Given the description of an element on the screen output the (x, y) to click on. 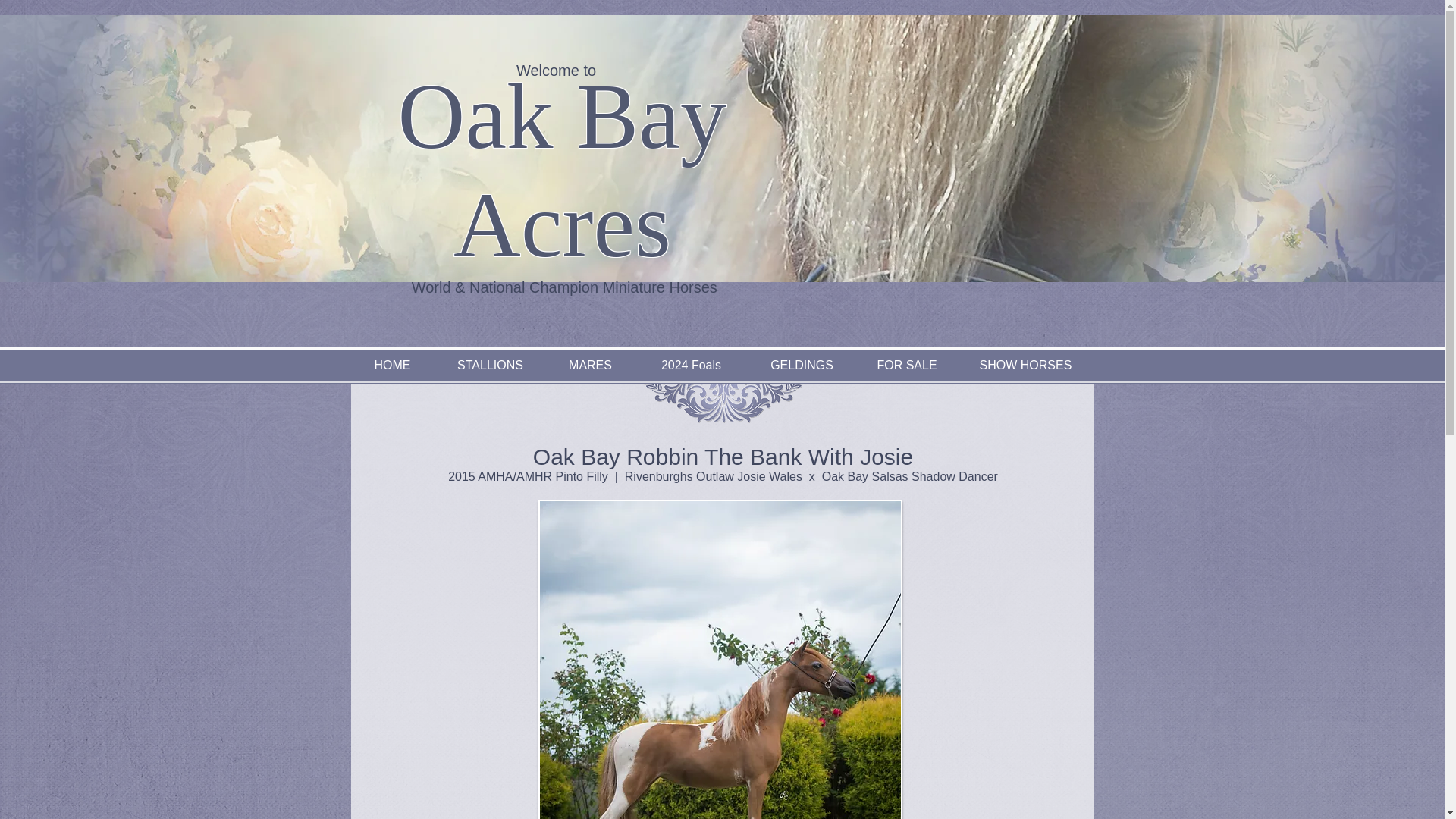
HOME (391, 365)
Robbin The Bank-300 fin.jpg (720, 659)
GELDINGS (802, 365)
SHOW HORSES (1025, 365)
FOR SALE (907, 365)
MARES (589, 365)
2024 Foals (690, 365)
STALLIONS (489, 365)
